Given the description of an element on the screen output the (x, y) to click on. 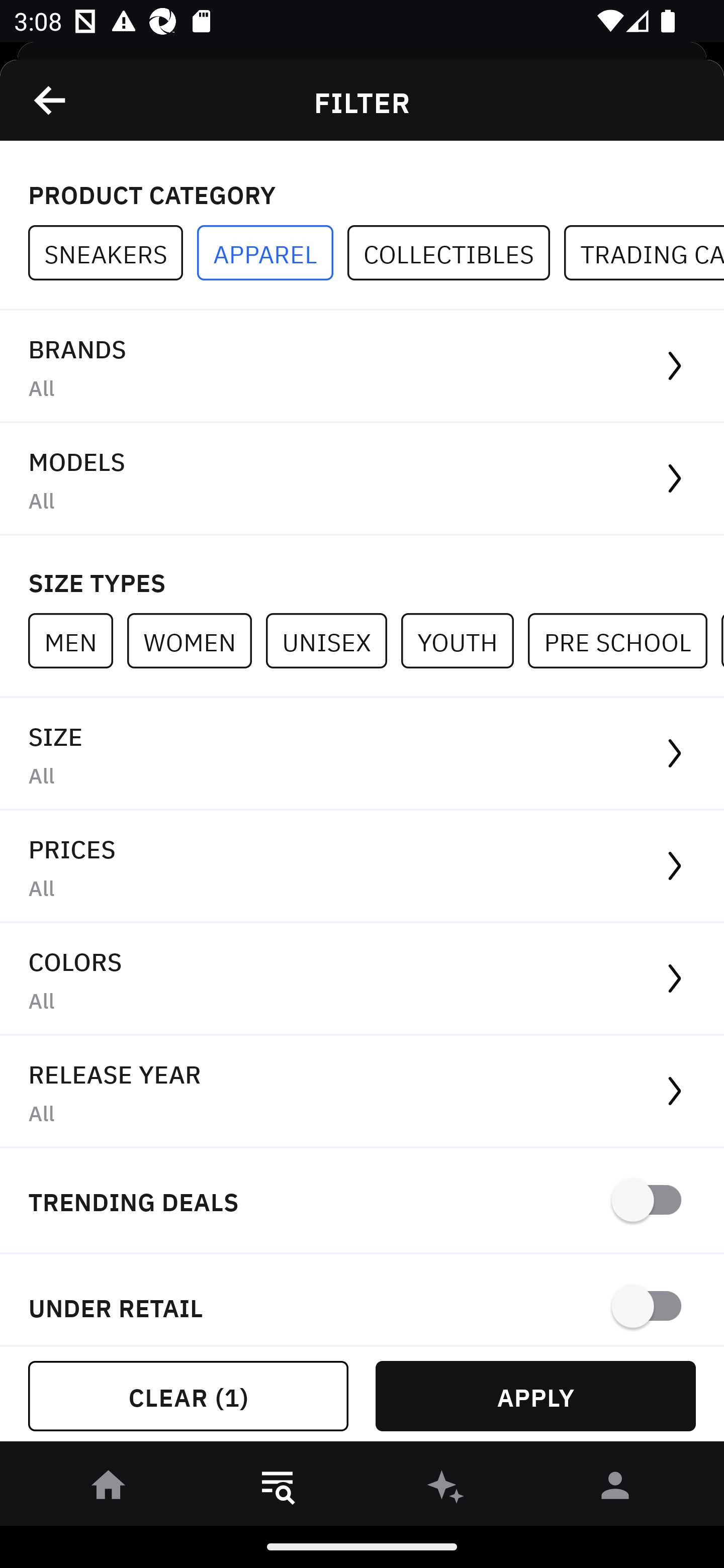
 (50, 100)
SNEAKERS (112, 252)
APPAREL (271, 252)
COLLECTIBLES (455, 252)
TRADING CARDS (643, 252)
BRANDS All (362, 366)
MODELS All (362, 479)
MEN (77, 640)
WOMEN (196, 640)
UNISEX (333, 640)
YOUTH (464, 640)
PRE SCHOOL (624, 640)
SIZE All (362, 753)
PRICES All (362, 866)
COLORS All (362, 979)
RELEASE YEAR All (362, 1091)
TRENDING DEALS (362, 1200)
UNDER RETAIL (362, 1299)
CLEAR (1) (188, 1396)
APPLY (535, 1396)
󰋜 (108, 1488)
󱎸 (277, 1488)
󰫢 (446, 1488)
󰀄 (615, 1488)
